Given the description of an element on the screen output the (x, y) to click on. 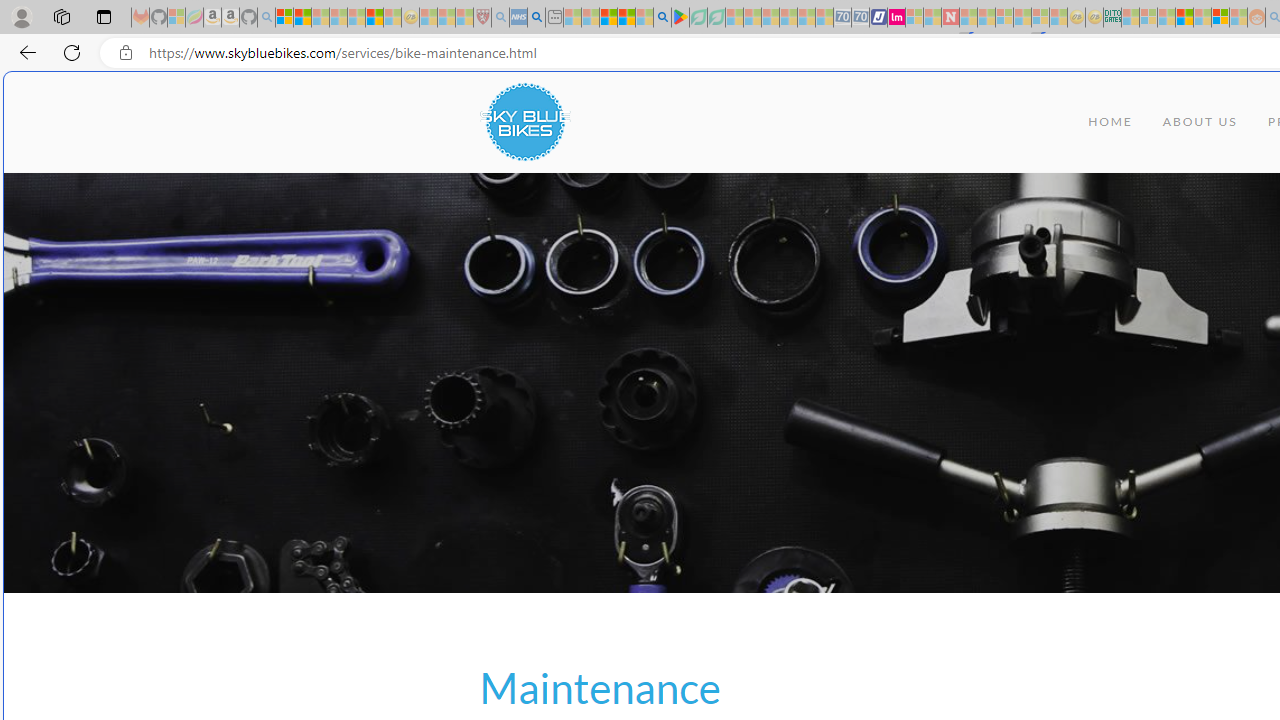
google - Search (662, 17)
list of asthma inhalers uk - Search - Sleeping (500, 17)
Microsoft Start - Sleeping (932, 17)
Personal Profile (21, 16)
View site information (125, 53)
Jobs - lastminute.com Investor Portal (896, 17)
Kinda Frugal - MSN - Sleeping (1202, 17)
Tab actions menu (104, 16)
Robert H. Shmerling, MD - Harvard Health - Sleeping (482, 17)
Pets - MSN (626, 17)
Terms of Use Agreement - Sleeping (697, 17)
